Given the description of an element on the screen output the (x, y) to click on. 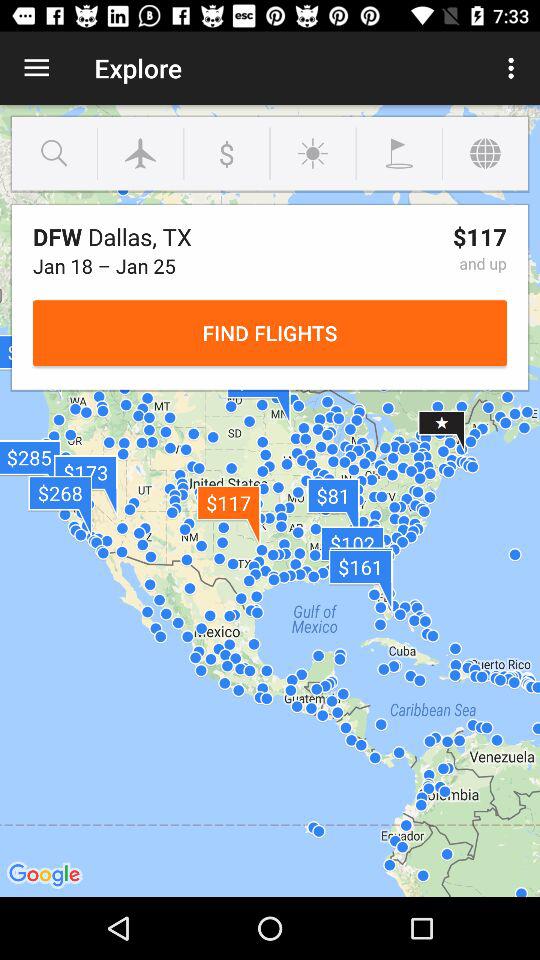
open the icon next to the explore icon (513, 67)
